Given the description of an element on the screen output the (x, y) to click on. 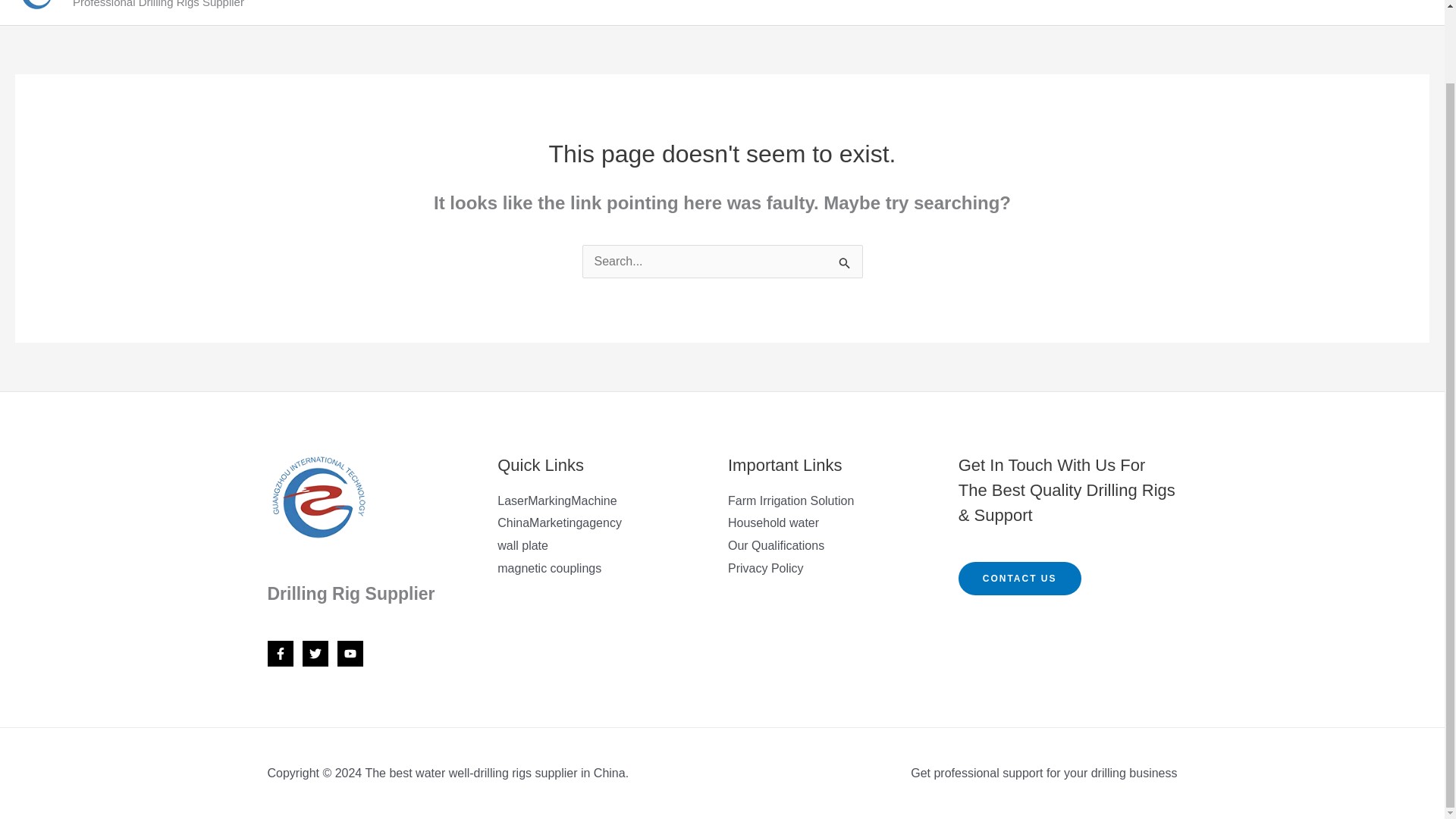
Drilling Products (1226, 6)
Home (1045, 6)
Contact Us (1387, 6)
Search (844, 262)
Search (844, 262)
News (1317, 6)
About Us (1117, 6)
